Given the description of an element on the screen output the (x, y) to click on. 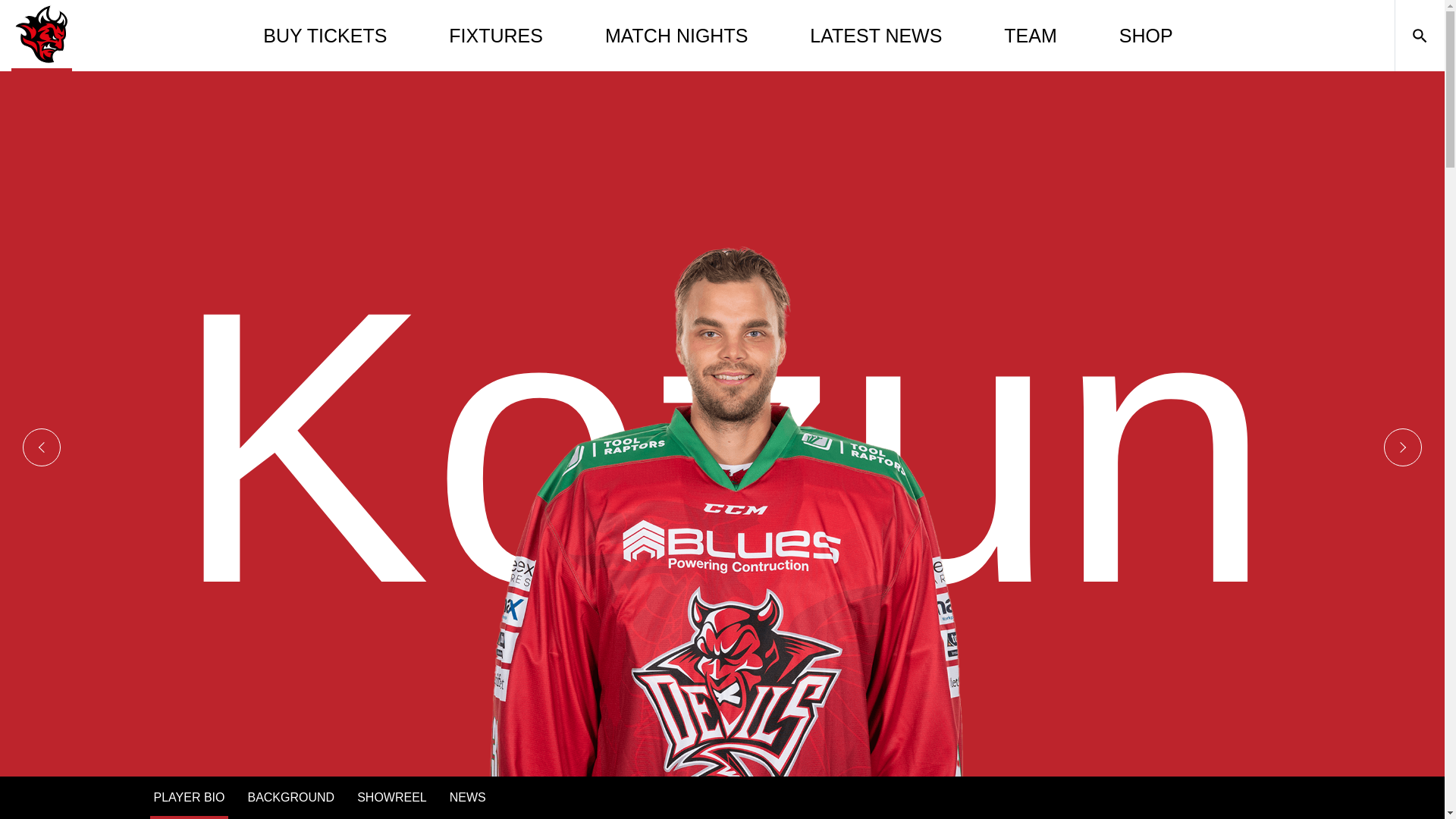
PLAYER BIO (188, 797)
MATCH NIGHTS (676, 34)
NEWS (467, 797)
TEAM (1030, 34)
FIXTURES (495, 34)
BACKGROUND (290, 797)
SHOWREEL (391, 797)
SHOP (1146, 34)
BUY TICKETS (325, 34)
LATEST NEWS (875, 34)
